Given the description of an element on the screen output the (x, y) to click on. 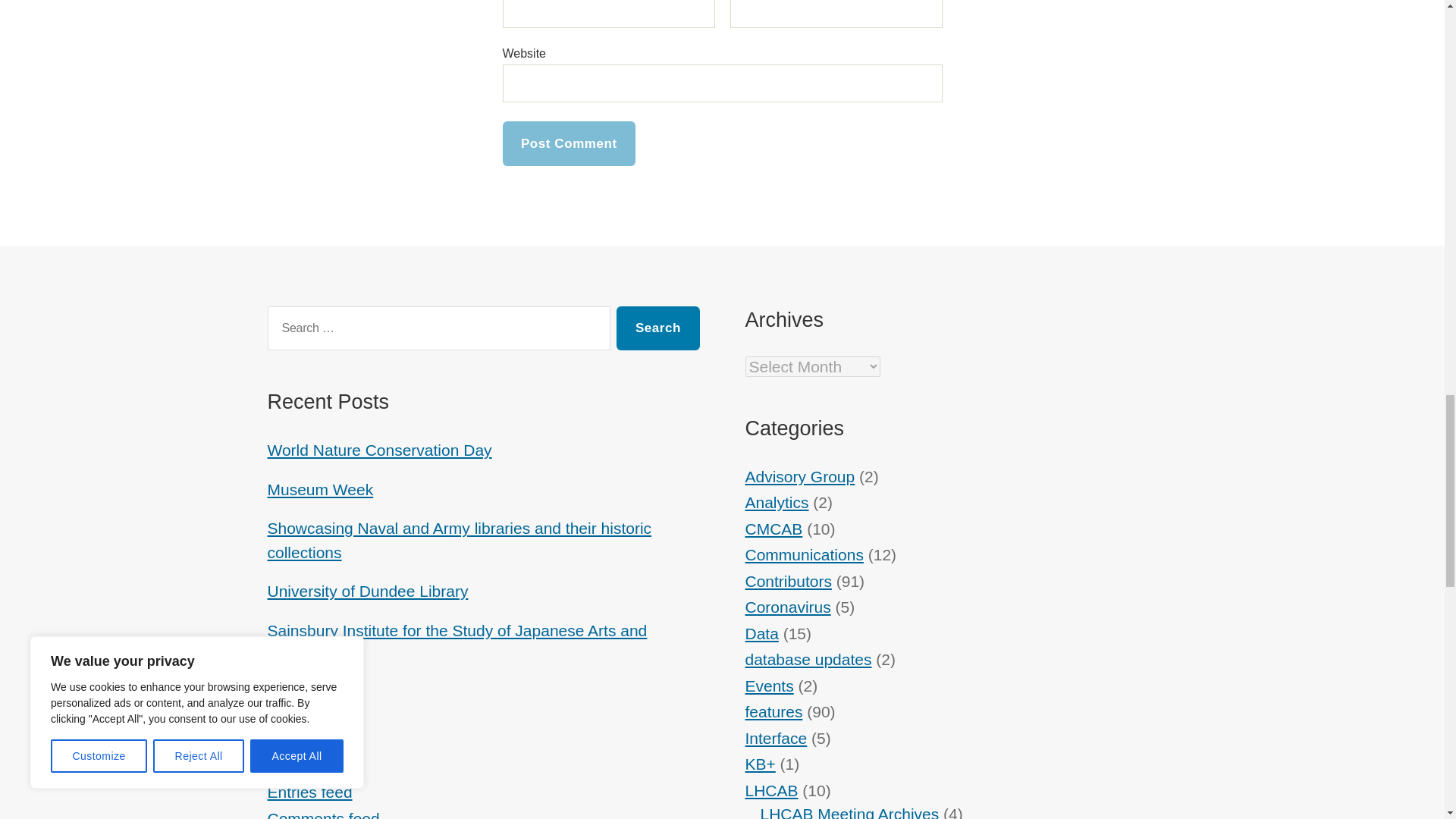
Search (656, 328)
Search (656, 328)
Post Comment (568, 143)
